Given the description of an element on the screen output the (x, y) to click on. 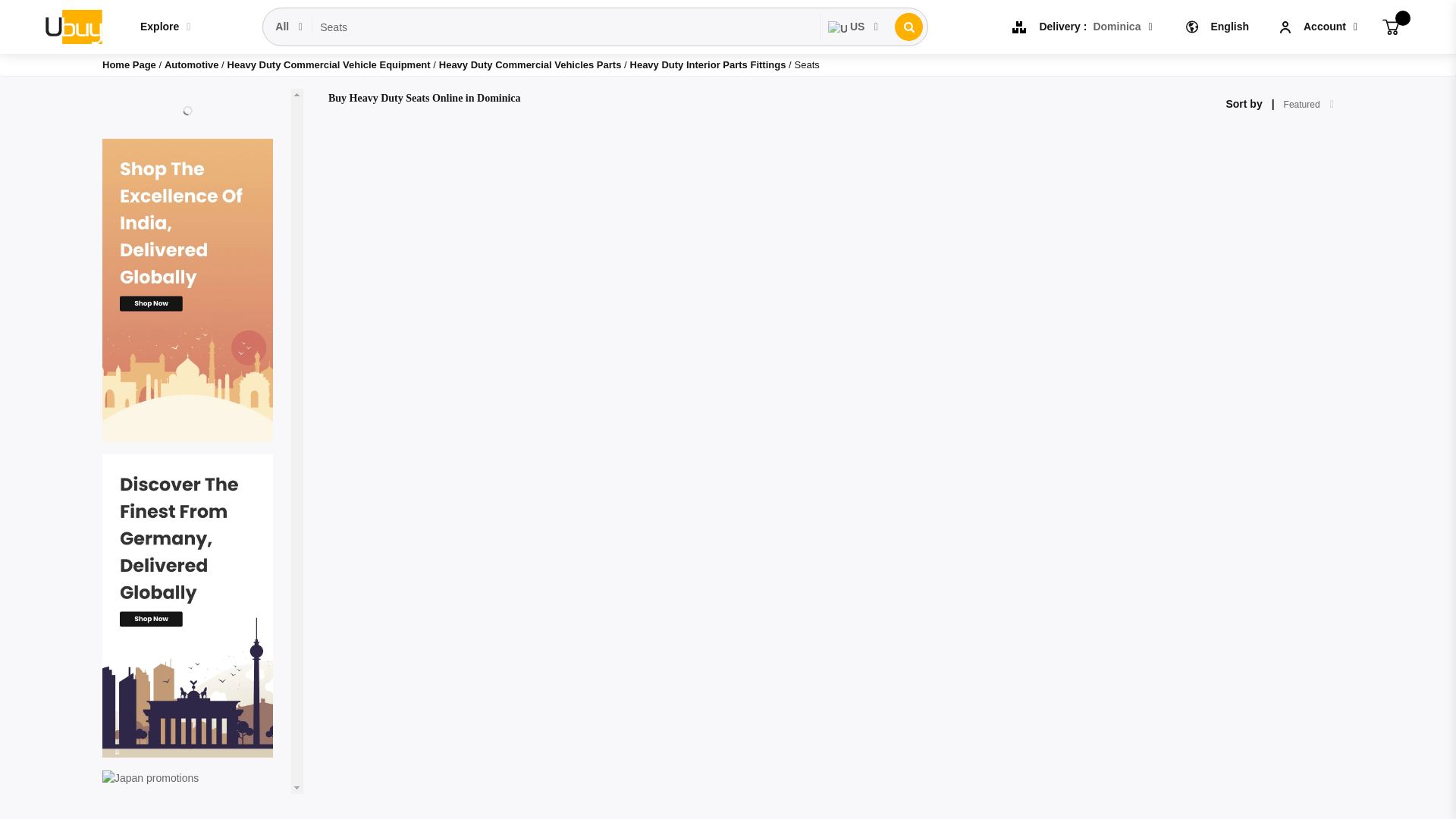
Seats (566, 26)
Cart (1390, 26)
Seats (566, 26)
Automotive (192, 64)
Ubuy (73, 26)
Automotive (192, 64)
All (289, 26)
US (853, 26)
Home Page (128, 64)
Home Page (128, 64)
